Given the description of an element on the screen output the (x, y) to click on. 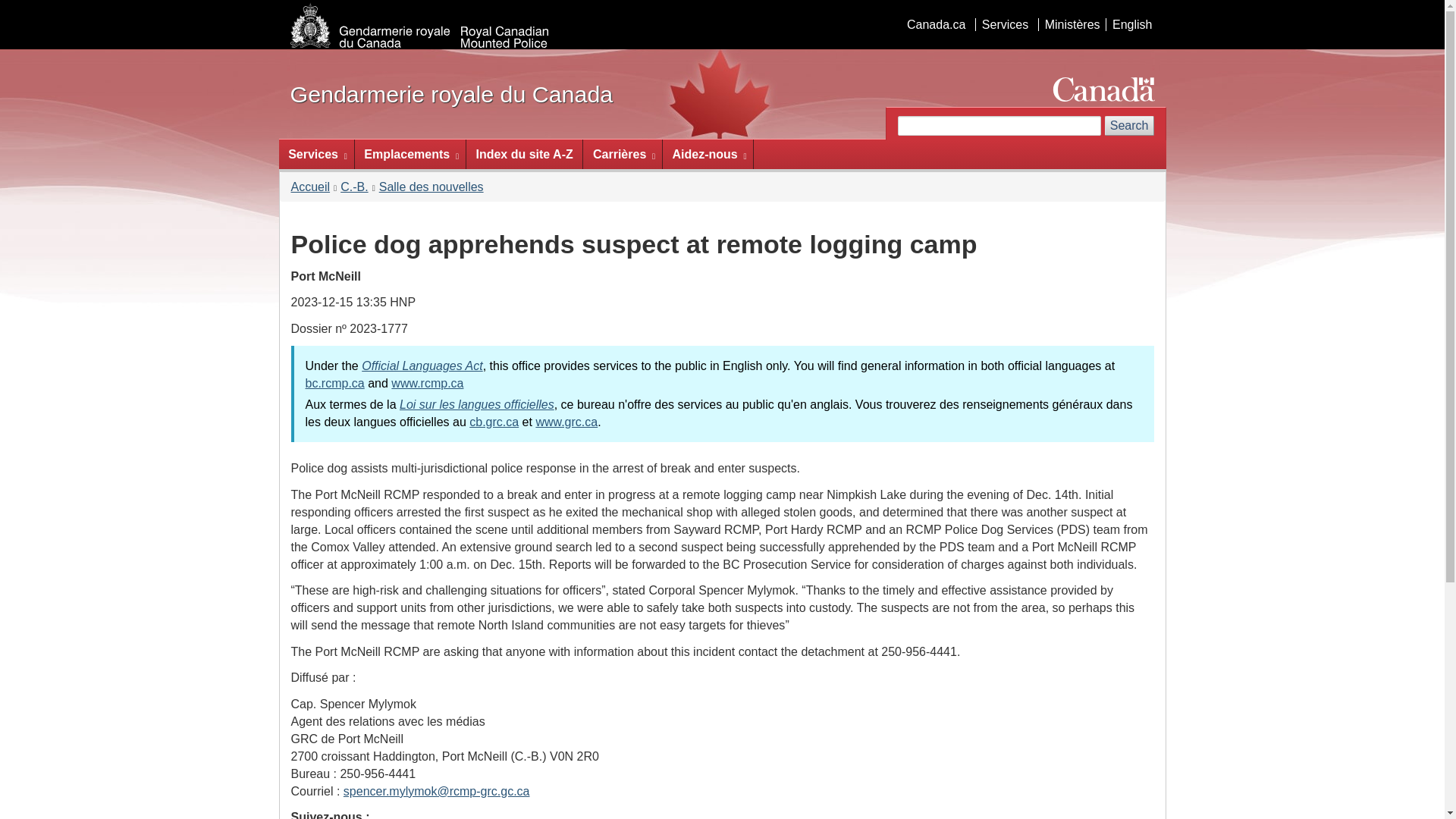
English (1131, 24)
Services (1004, 24)
Skip to main content (725, 11)
Canada.ca (936, 24)
